Given the description of an element on the screen output the (x, y) to click on. 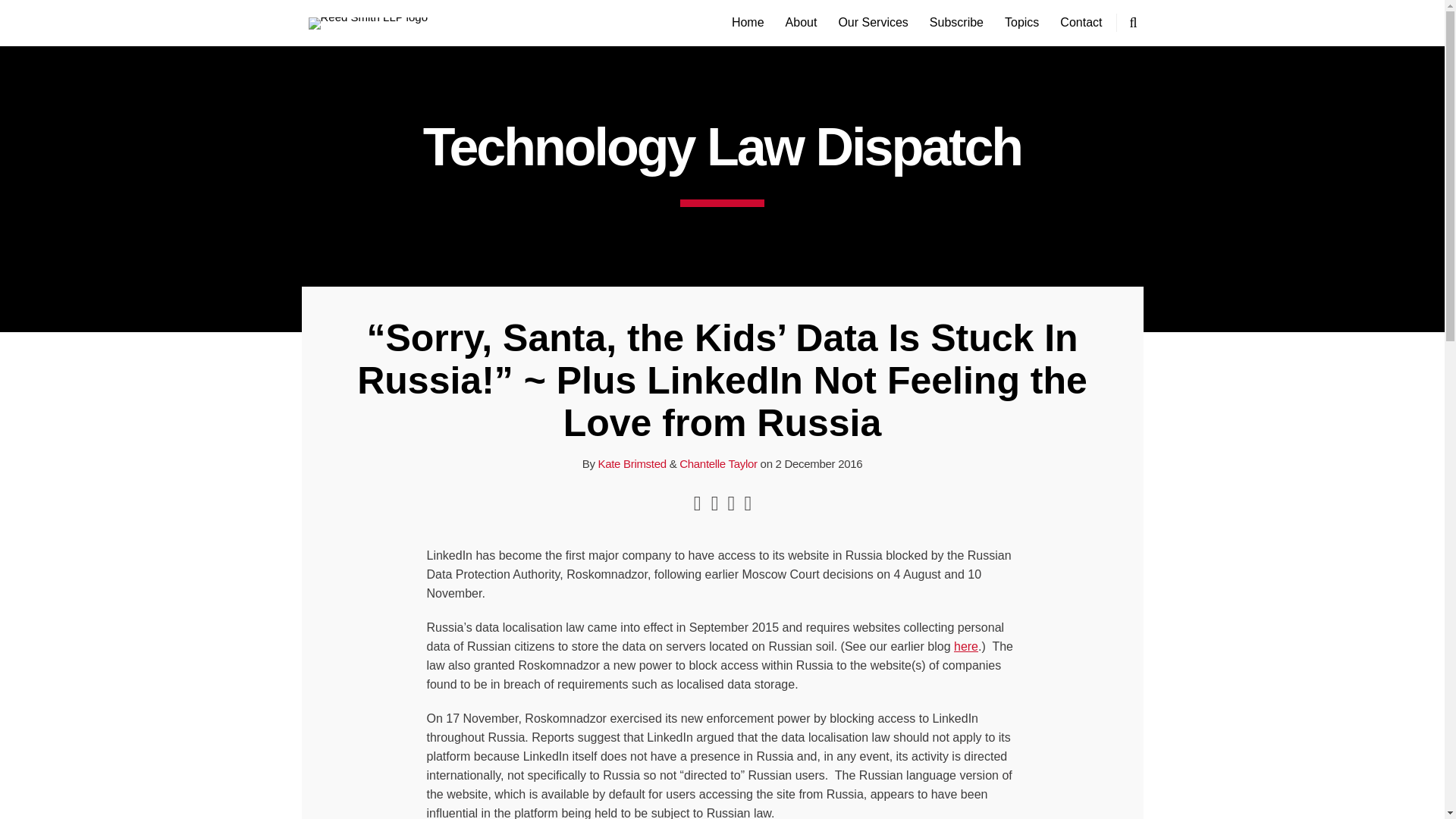
Chantelle Taylor (718, 463)
Subscribe (957, 22)
here (965, 645)
Topics (1021, 22)
Home (748, 22)
Contact (1080, 22)
Technology Law Dispatch (722, 146)
Our Services (872, 22)
About (801, 22)
Kate Brimsted (630, 463)
